Given the description of an element on the screen output the (x, y) to click on. 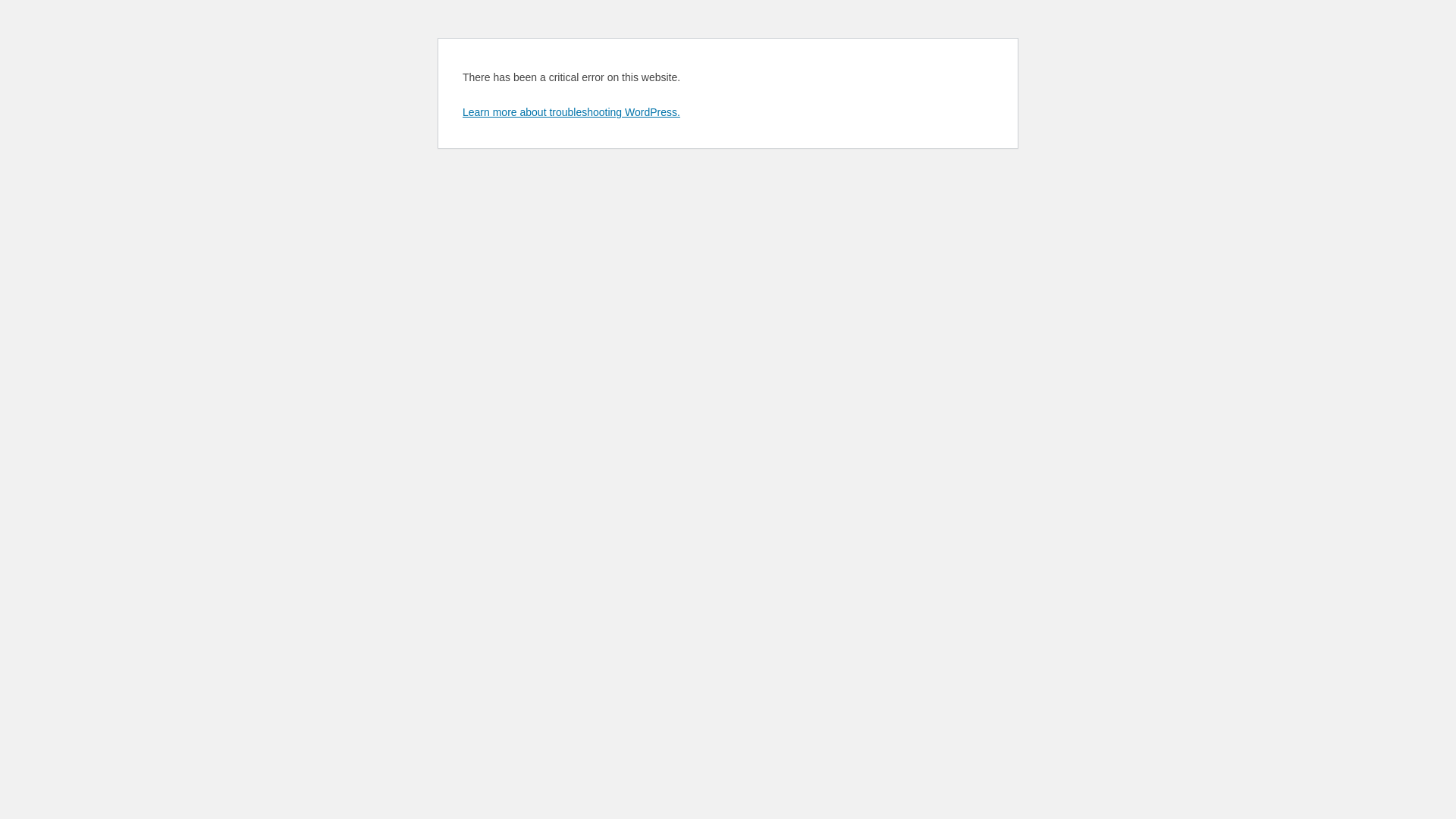
Learn more about troubleshooting WordPress. Element type: text (571, 112)
